Given the description of an element on the screen output the (x, y) to click on. 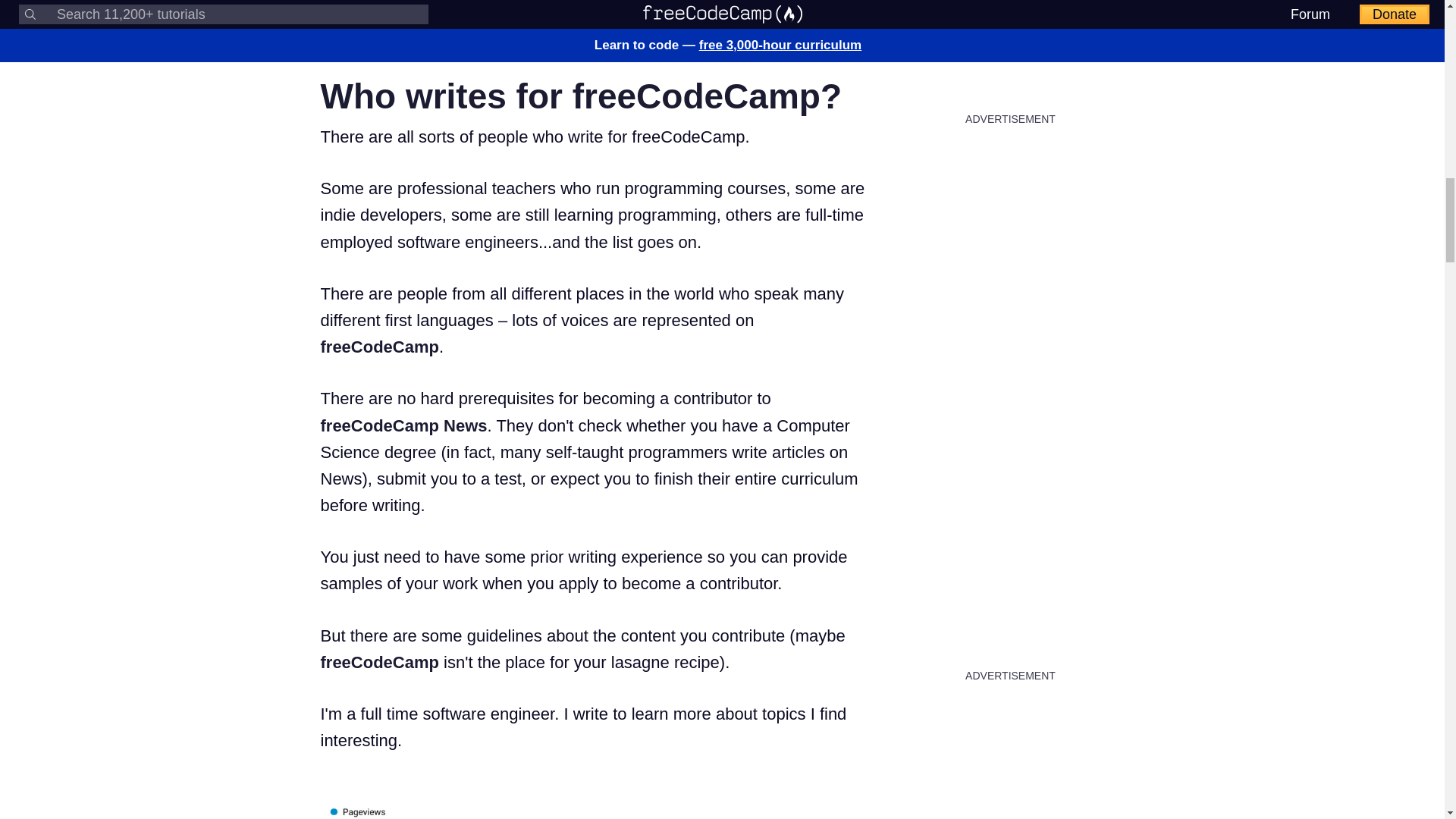
here (646, 20)
